Given the description of an element on the screen output the (x, y) to click on. 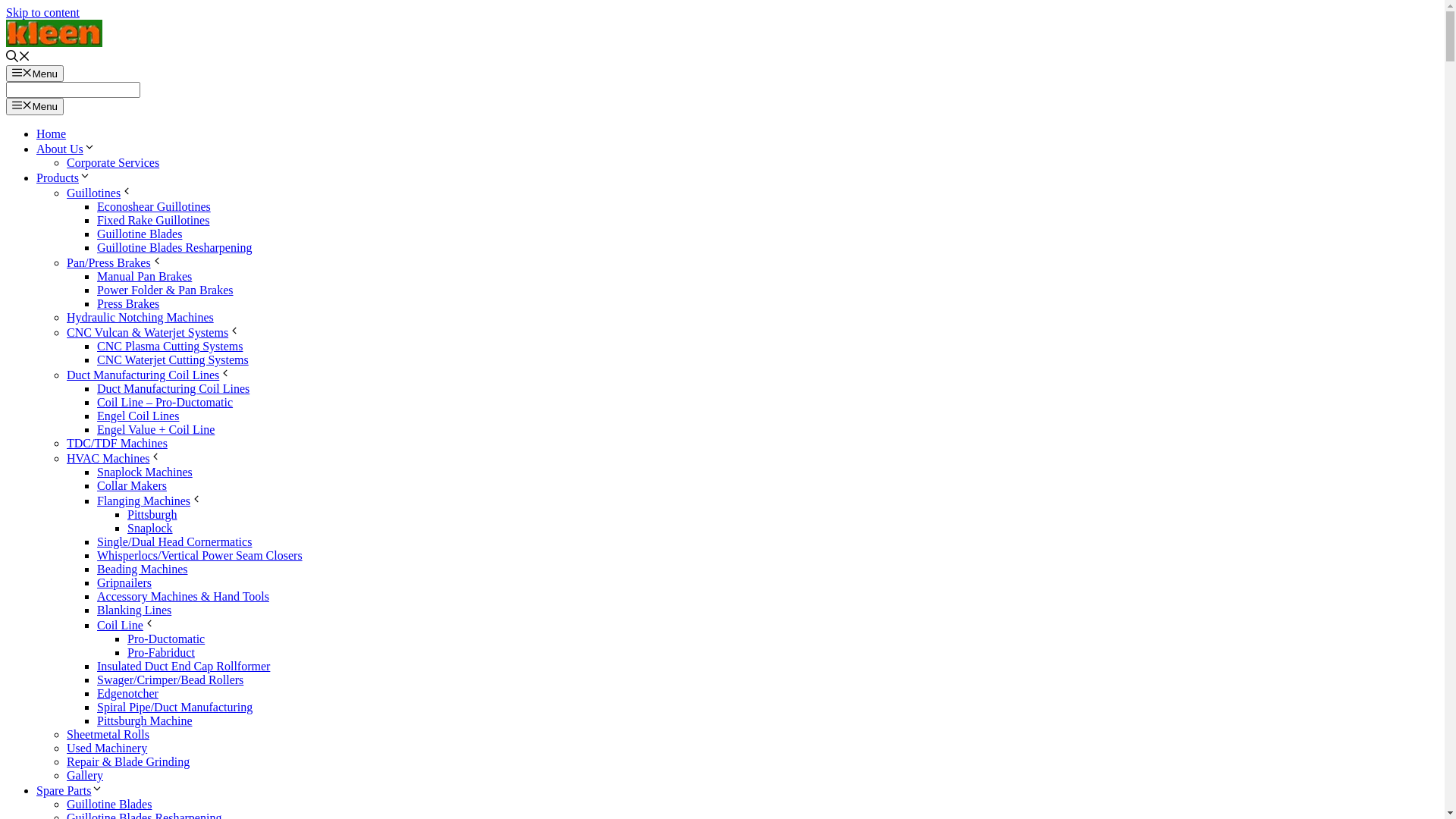
Engel Value + Coil Line Element type: text (155, 429)
CNC Vulcan & Waterjet Systems Element type: text (153, 332)
Sheetmetal Rolls Element type: text (107, 734)
Corporate Services Element type: text (112, 162)
Guillotines Element type: text (99, 192)
Duct Manufacturing Coil Lines Element type: text (148, 374)
Manual Pan Brakes Element type: text (144, 275)
Pro-Ductomatic Element type: text (165, 638)
Pan/Press Brakes Element type: text (114, 262)
Fixed Rake Guillotines Element type: text (153, 219)
Pro-Fabriduct Element type: text (160, 652)
Blanking Lines Element type: text (134, 609)
Guillotine Blades Element type: text (108, 803)
Collar Makers Element type: text (131, 485)
Engel Coil Lines Element type: text (137, 415)
CNC Waterjet Cutting Systems Element type: text (172, 359)
Swager/Crimper/Bead Rollers Element type: text (170, 679)
Insulated Duct End Cap Rollformer Element type: text (183, 665)
Coil Line Element type: text (126, 624)
Edgenotcher Element type: text (127, 693)
Hydraulic Notching Machines Element type: text (139, 316)
Guillotine Blades Element type: text (139, 233)
Beading Machines Element type: text (142, 568)
HVAC Machines Element type: text (113, 457)
Spiral Pipe/Duct Manufacturing Element type: text (174, 706)
TDC/TDF Machines Element type: text (116, 442)
Econoshear Guillotines Element type: text (153, 206)
Flanging Machines Element type: text (149, 500)
Skip to content Element type: text (42, 12)
Power Folder & Pan Brakes Element type: text (165, 289)
CNC Plasma Cutting Systems Element type: text (169, 345)
Repair & Blade Grinding Element type: text (127, 761)
Duct Manufacturing Coil Lines Element type: text (173, 388)
Accessory Machines & Hand Tools Element type: text (183, 595)
Gallery Element type: text (84, 774)
Snaplock Element type: text (149, 527)
Products Element type: text (63, 177)
Pittsburgh Machine Element type: text (144, 720)
Whisperlocs/Vertical Power Seam Closers Element type: text (199, 555)
Gripnailers Element type: text (124, 582)
Menu Element type: text (34, 73)
Press Brakes Element type: text (128, 303)
Used Machinery Element type: text (106, 747)
About Us Element type: text (65, 148)
Home Element type: text (50, 133)
Spare Parts Element type: text (69, 790)
Snaplock Machines Element type: text (144, 471)
Single/Dual Head Cornermatics Element type: text (174, 541)
Search Element type: hover (73, 89)
Menu Element type: text (34, 105)
Guillotine Blades Resharpening Element type: text (174, 247)
Pittsburgh Element type: text (152, 514)
